Given the description of an element on the screen output the (x, y) to click on. 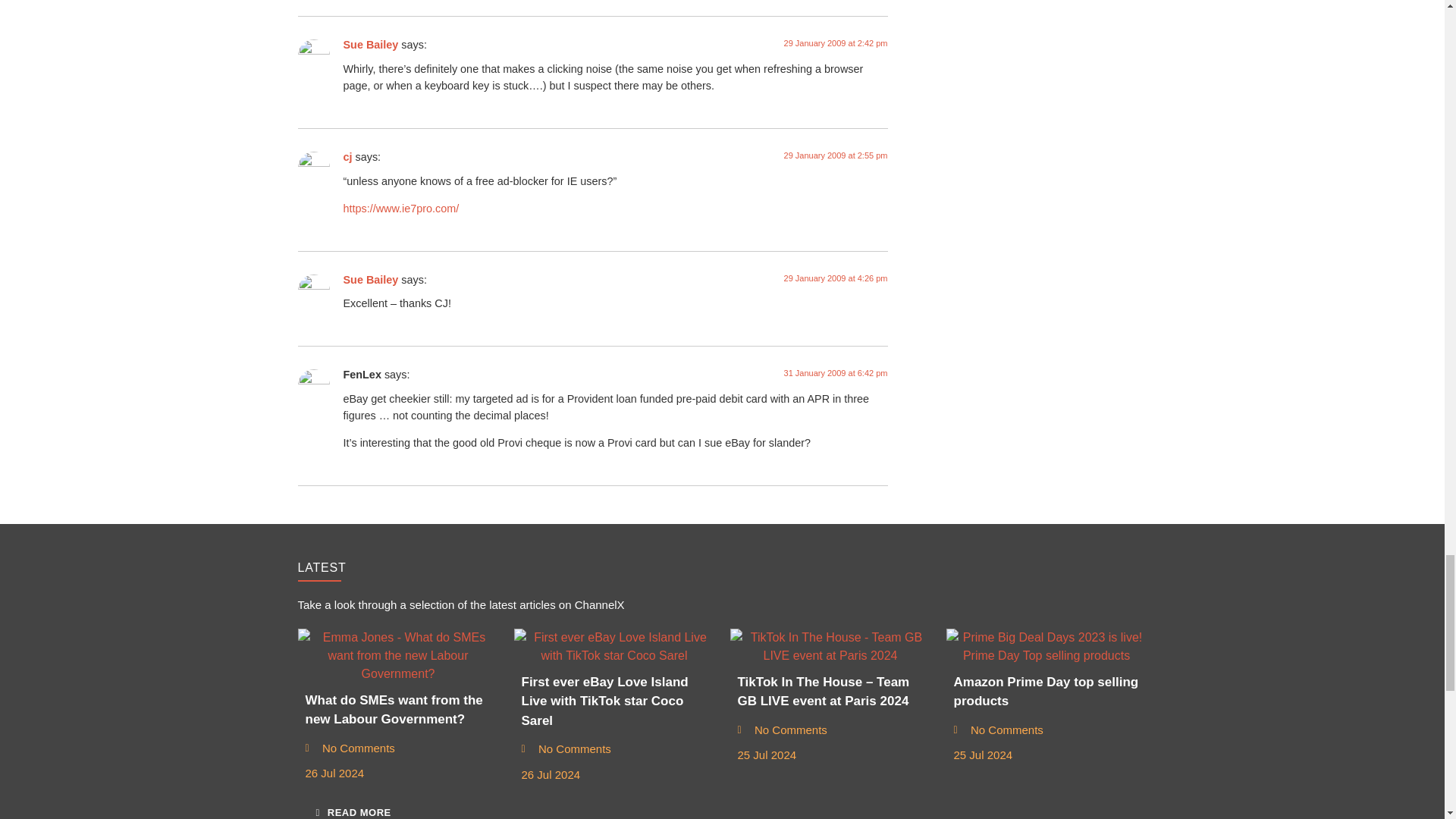
First ever eBay Love Island Live with TikTok star Coco Sarel (613, 646)
Prime Big Deal Days 2023 is live! (1046, 646)
